Given the description of an element on the screen output the (x, y) to click on. 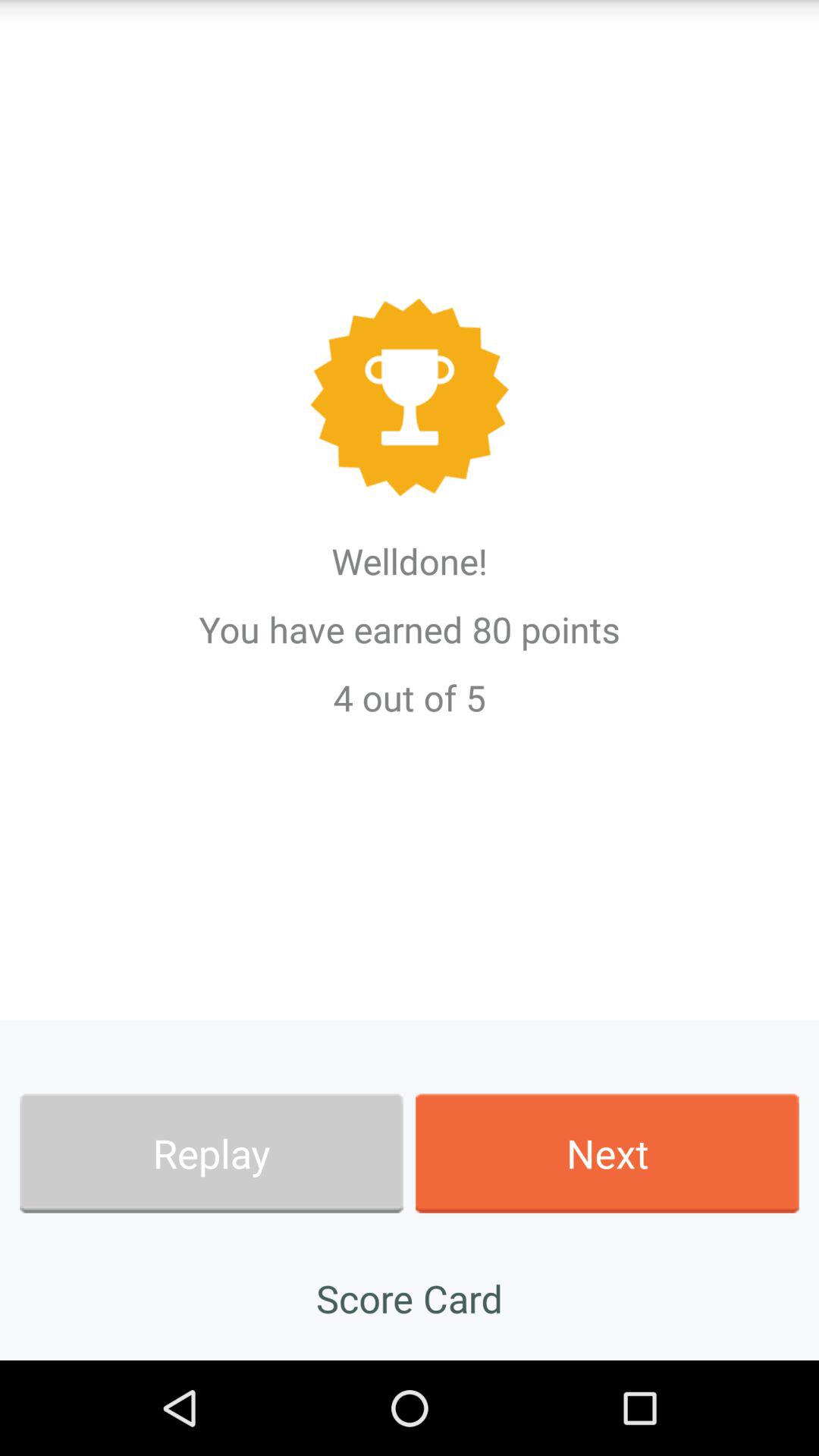
press the app above the score card icon (211, 1153)
